Given the description of an element on the screen output the (x, y) to click on. 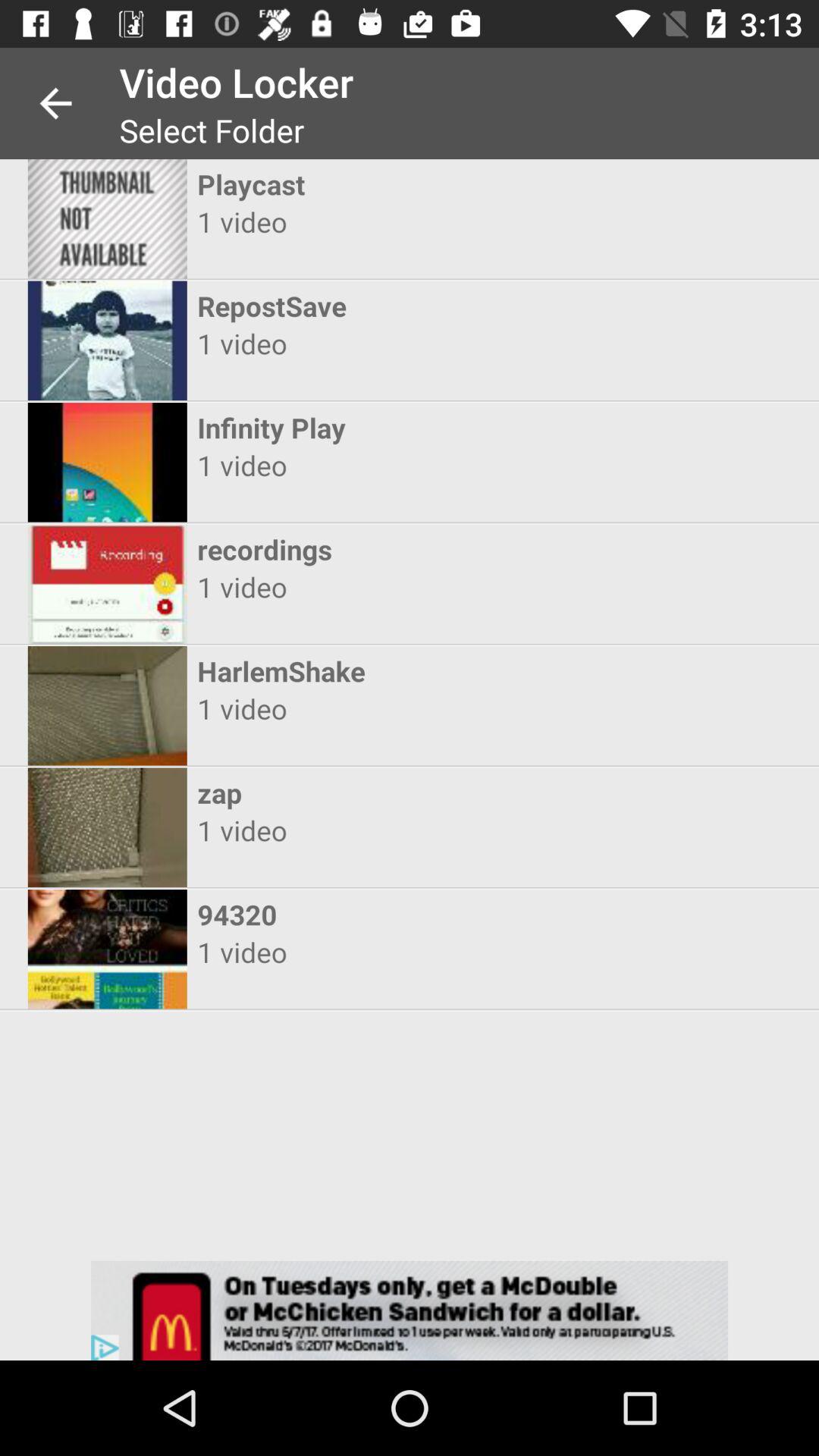
turn on app next to video locker item (55, 103)
